Given the description of an element on the screen output the (x, y) to click on. 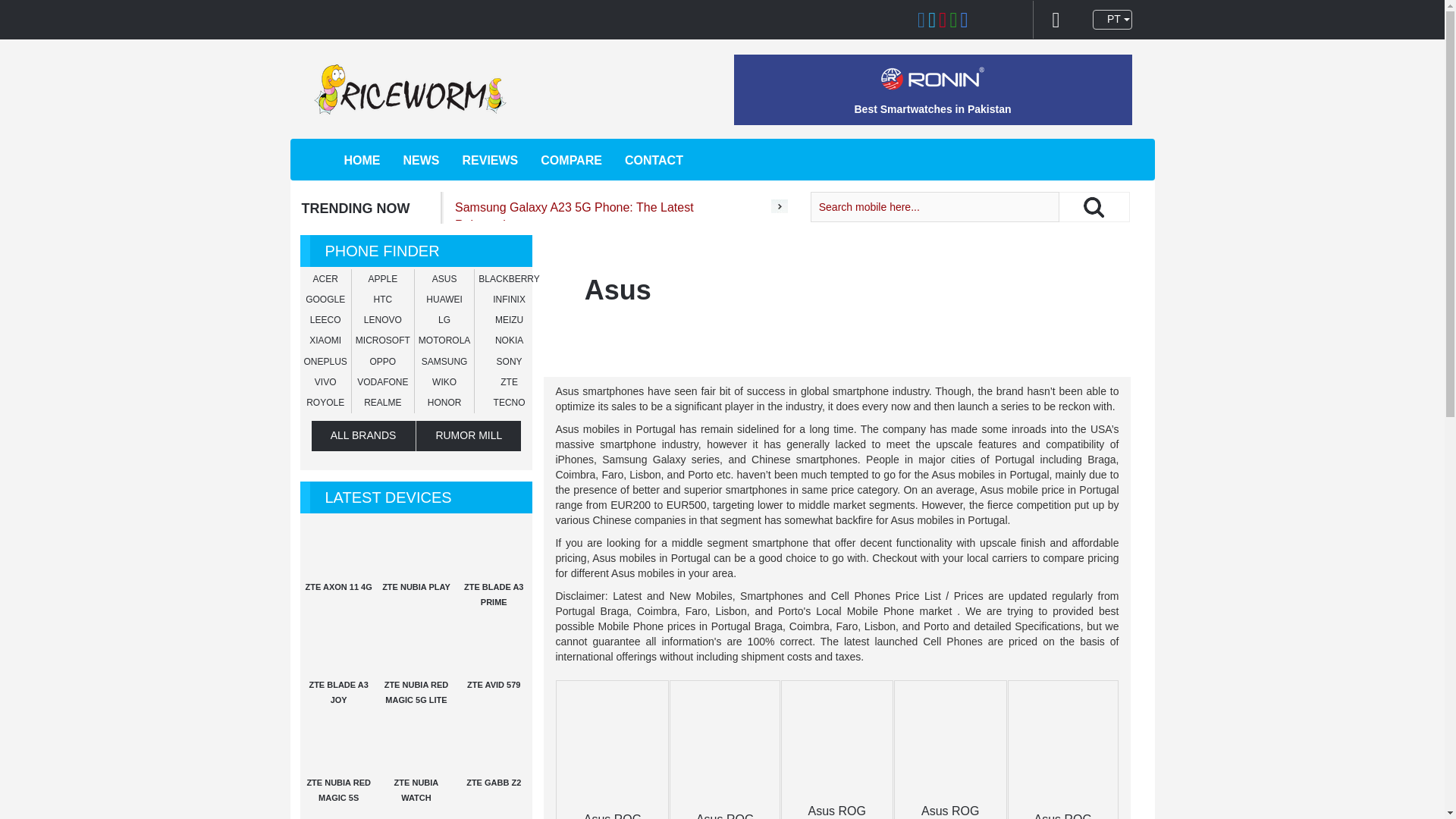
Asus ROG Phone 6D (1061, 816)
Asus ROG Phone 6 Batman Edition (837, 811)
COMPARE (571, 160)
REVIEWS (490, 160)
Best Smartwatches in Pakistan (931, 109)
Asus ROG Phone 6 (612, 816)
CONTACT (653, 160)
Asus ROG Phone 6 Diablo Immortal Edition (949, 811)
Search (1094, 206)
Asus ROG Phone 6 Pro (724, 816)
NEWS (421, 160)
PT (1112, 19)
